Given the description of an element on the screen output the (x, y) to click on. 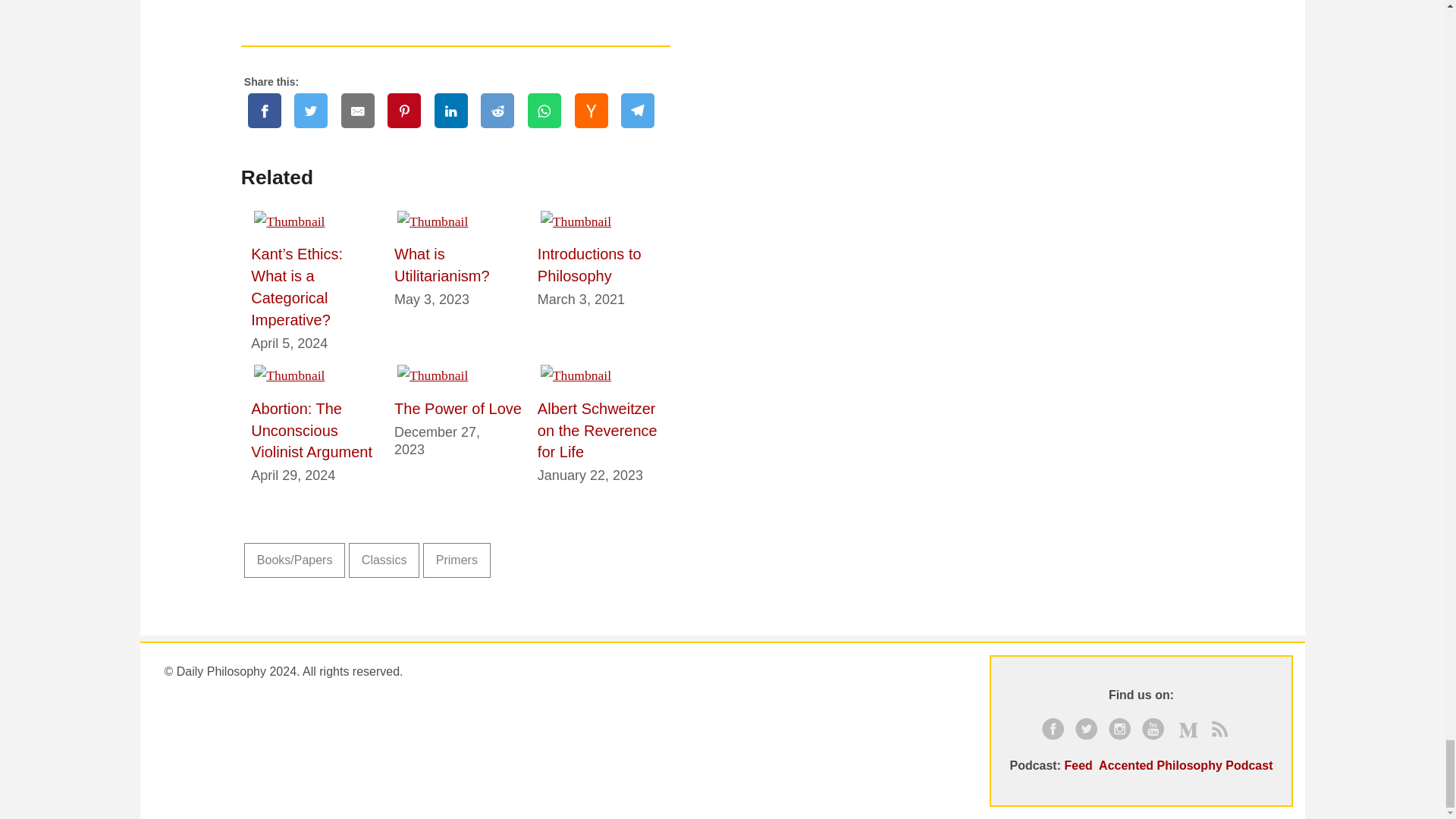
Medium link (1189, 730)
Facebook link (1056, 730)
RSS link (1223, 730)
Twitter link (1089, 730)
Instagram link (1123, 730)
Youtube link (1156, 730)
